Given the description of an element on the screen output the (x, y) to click on. 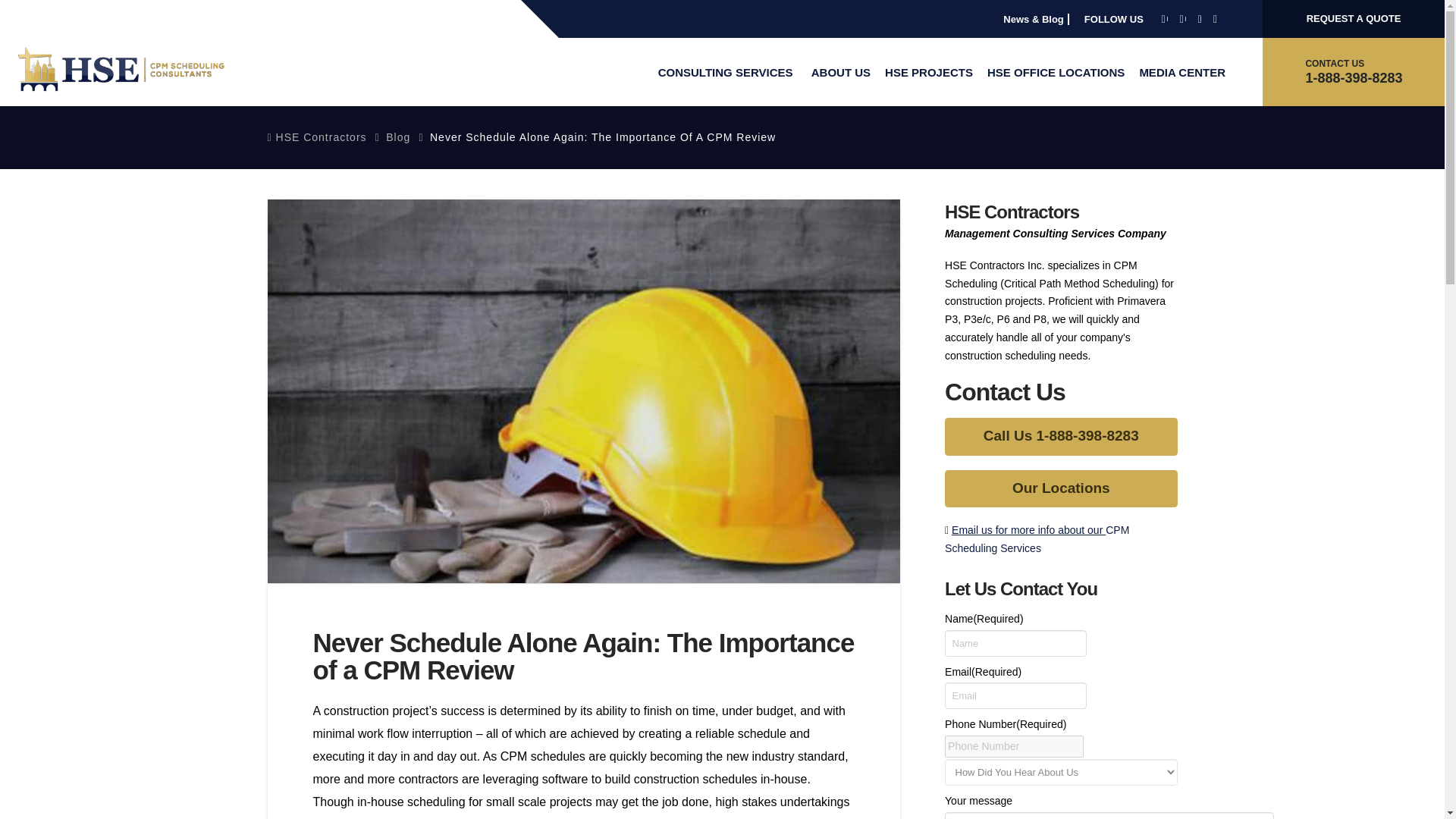
linkedin (1181, 19)
HSE Contractors (122, 68)
CONSULTING SERVICES (726, 71)
YouTube (1200, 19)
CPM Scheduling Services (1036, 539)
Twitter (1214, 19)
Facebook (1163, 19)
Email (1028, 530)
